Given the description of an element on the screen output the (x, y) to click on. 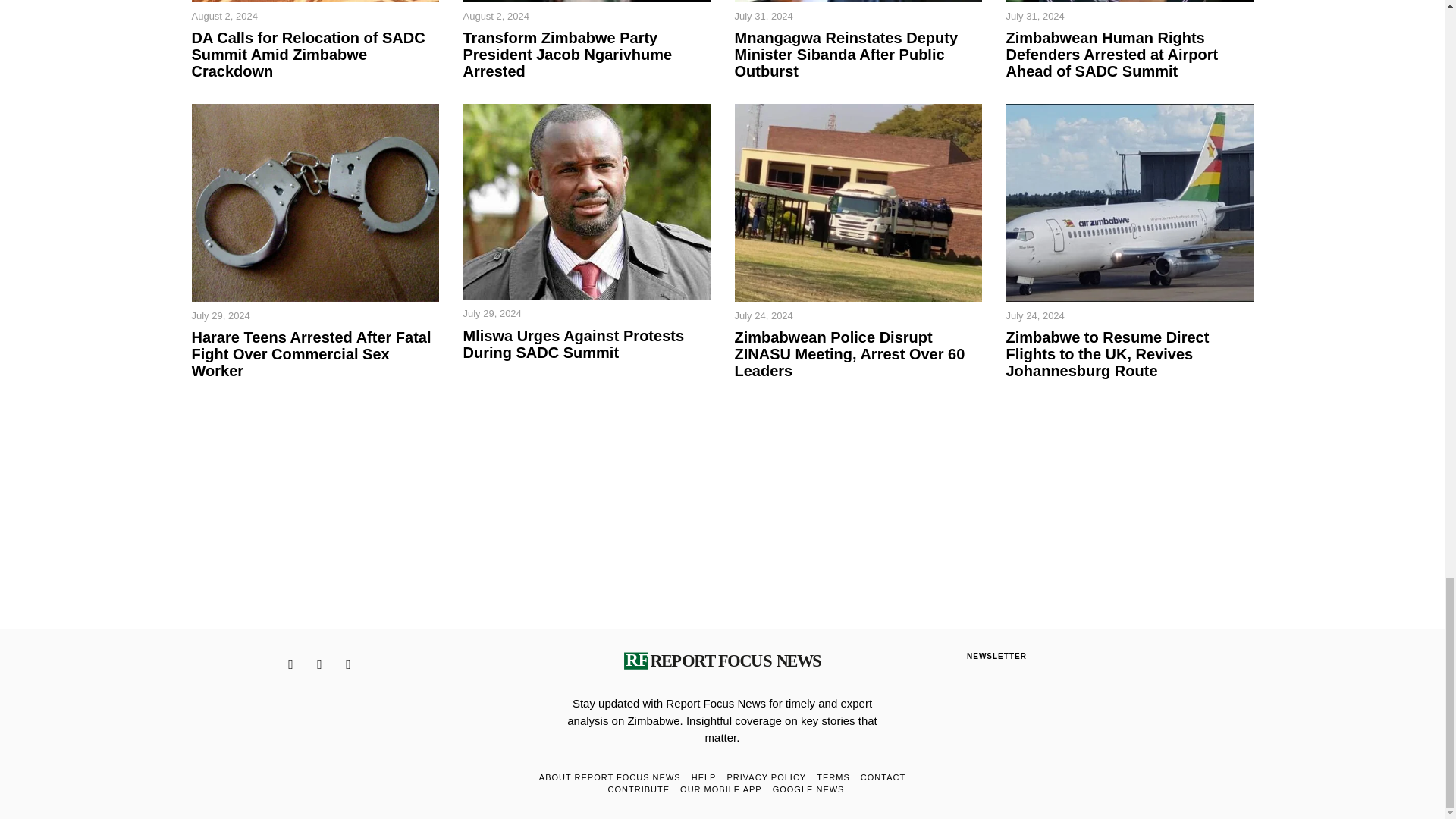
31 Jul, 2024 23:23:19 (762, 16)
02 Aug, 2024 20:57:19 (223, 16)
Transform Zimbabwe Party President Jacob Ngarivhume Arrested (586, 54)
02 Aug, 2024 17:06:24 (495, 16)
31 Jul, 2024 23:34:09 (1035, 16)
